Given the description of an element on the screen output the (x, y) to click on. 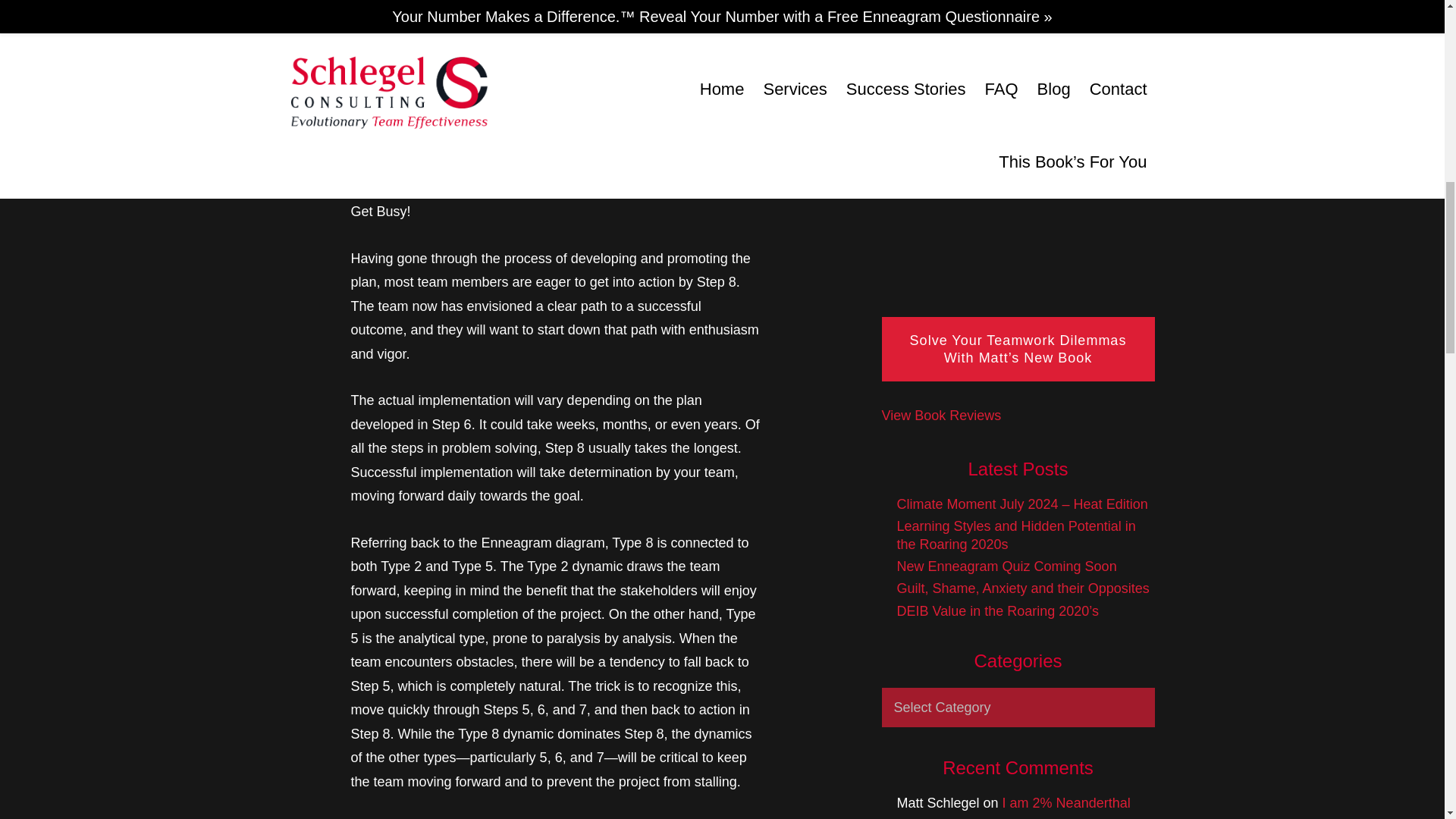
Subscribe (1017, 51)
Subscribe (1017, 51)
New Enneagram Quiz Coming Soon (1006, 566)
View Book Reviews (940, 415)
Teamwork 9.0 (454, 1)
Learning Styles and Hidden Potential in the Roaring 2020s (1015, 534)
Guilt, Shame, Anxiety and their Opposites (1022, 588)
